Given the description of an element on the screen output the (x, y) to click on. 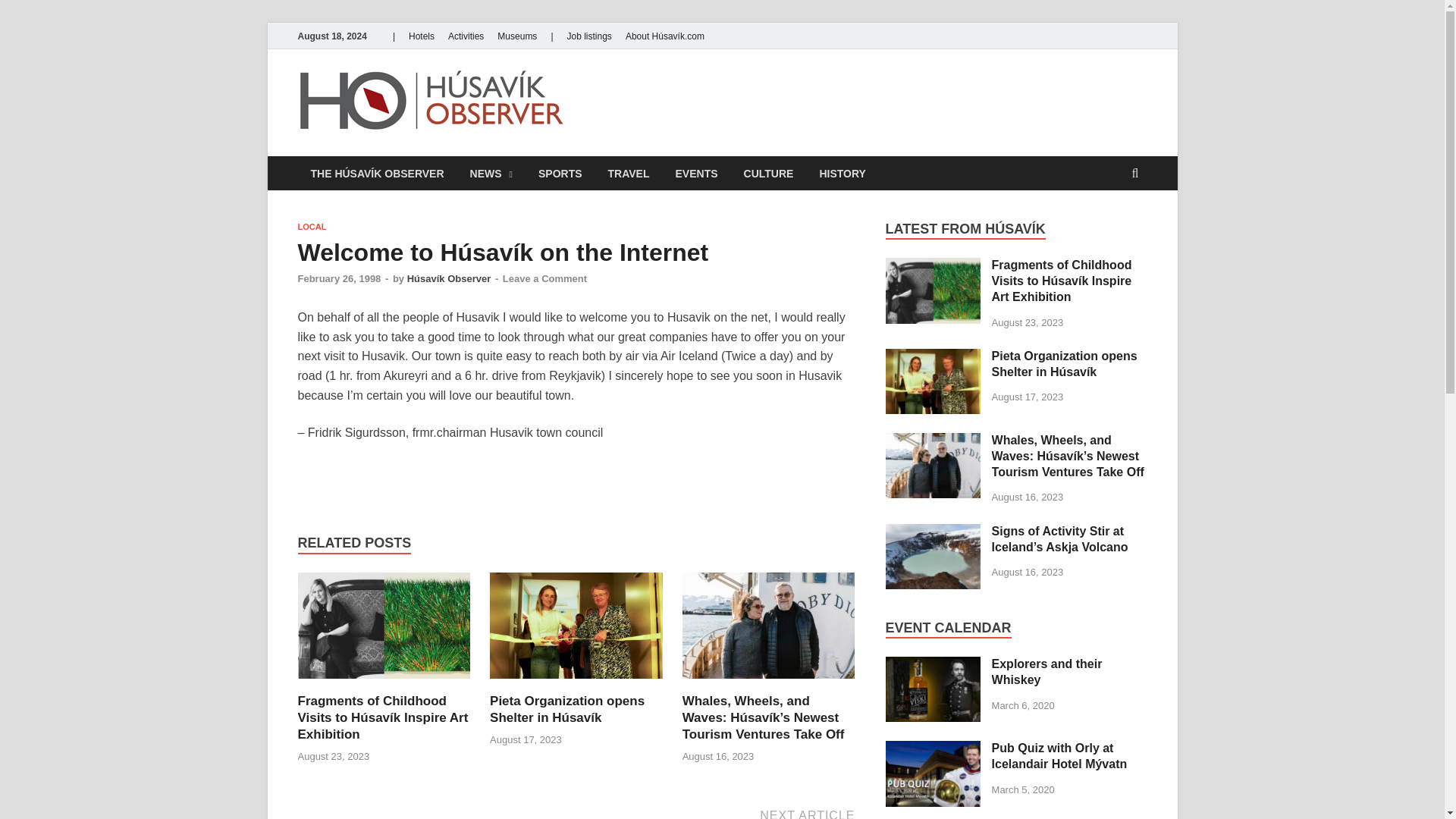
SPORTS (560, 173)
EVENTS (696, 173)
Job listings (588, 35)
Explorers and their Whiskey (932, 665)
HISTORY (841, 173)
Museums (516, 35)
Activities (465, 35)
Hotels (421, 35)
CULTURE (768, 173)
TRAVEL (628, 173)
